Given the description of an element on the screen output the (x, y) to click on. 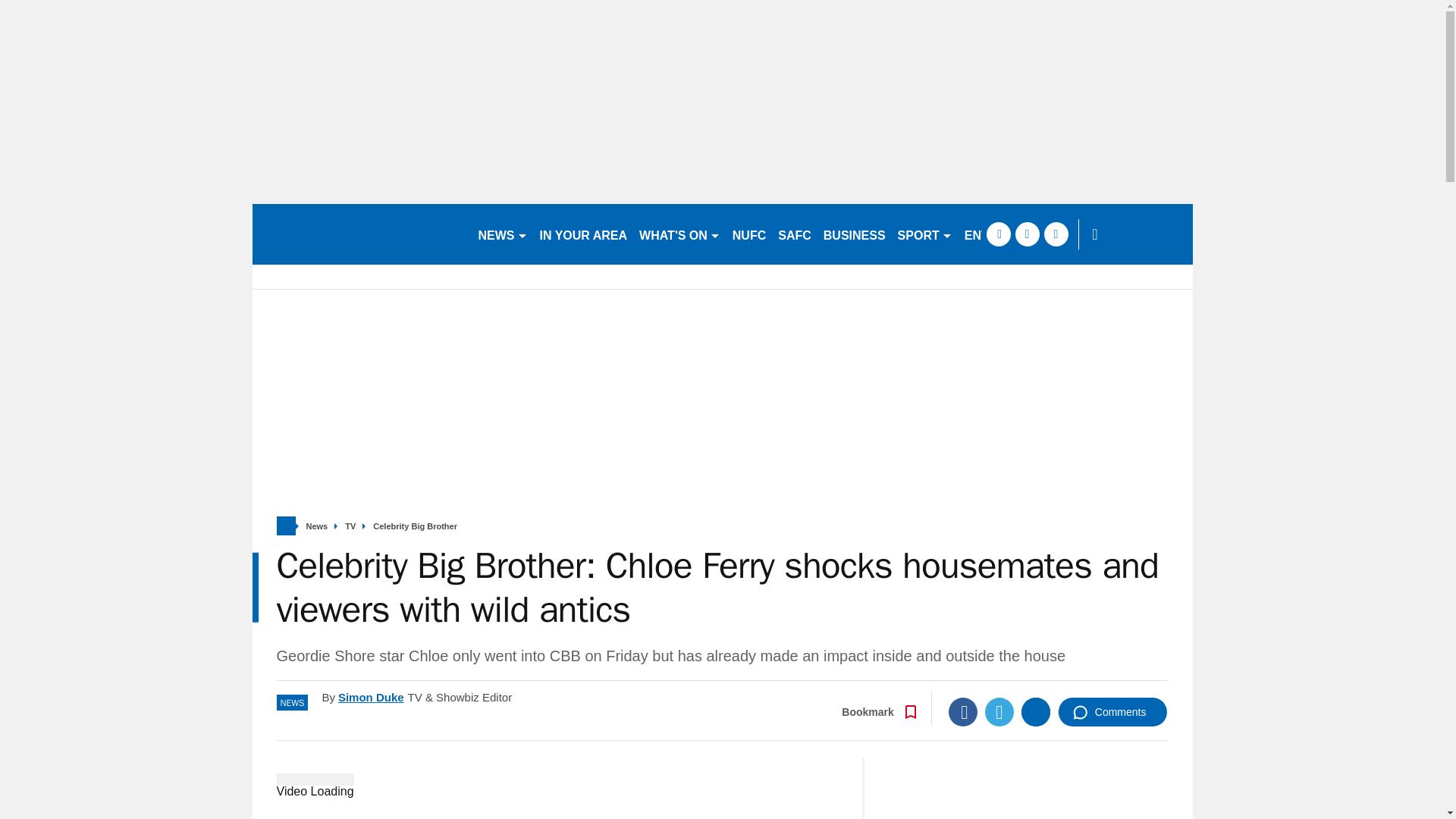
Twitter (999, 711)
BUSINESS (853, 233)
SPORT (924, 233)
Comments (1112, 711)
WHAT'S ON (679, 233)
facebook (997, 233)
nechronicle (357, 233)
IN YOUR AREA (583, 233)
instagram (1055, 233)
Facebook (962, 711)
